Given the description of an element on the screen output the (x, y) to click on. 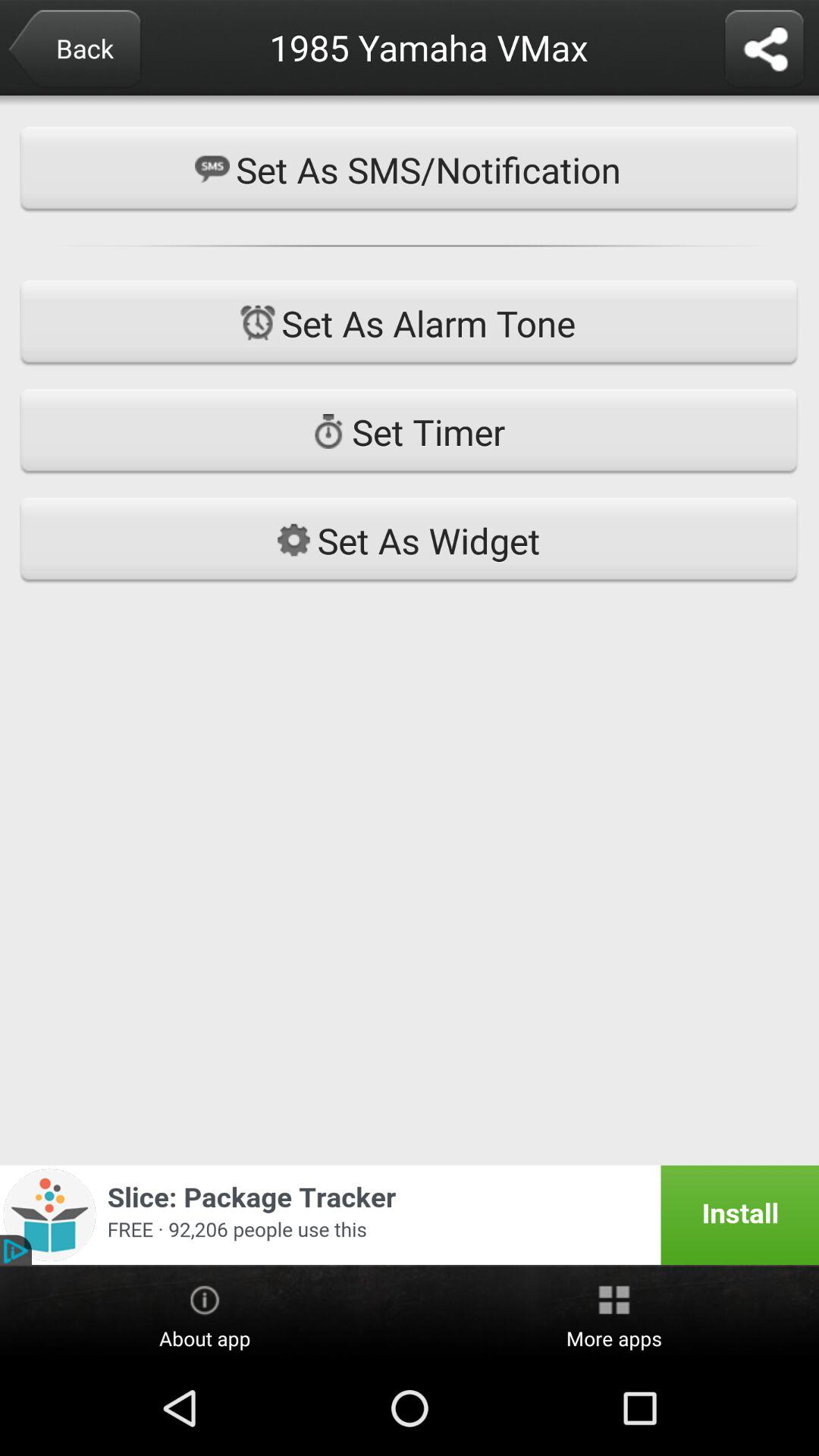
turn off app next to the 1985 yamaha vmax app (73, 50)
